Given the description of an element on the screen output the (x, y) to click on. 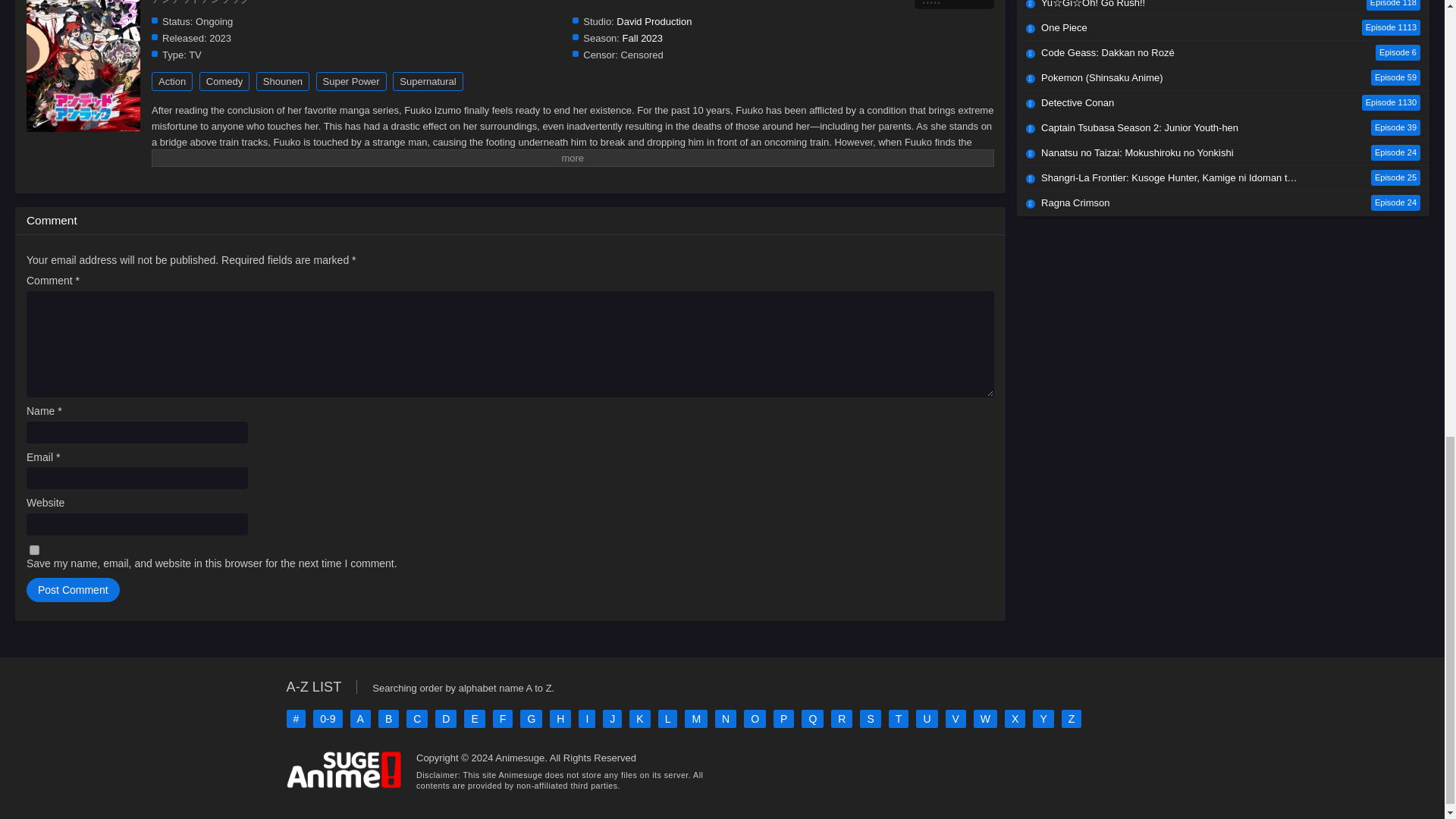
yes (34, 550)
David Production (653, 21)
Post Comment (72, 589)
Action (171, 81)
Fall 2023 (642, 38)
